Given the description of an element on the screen output the (x, y) to click on. 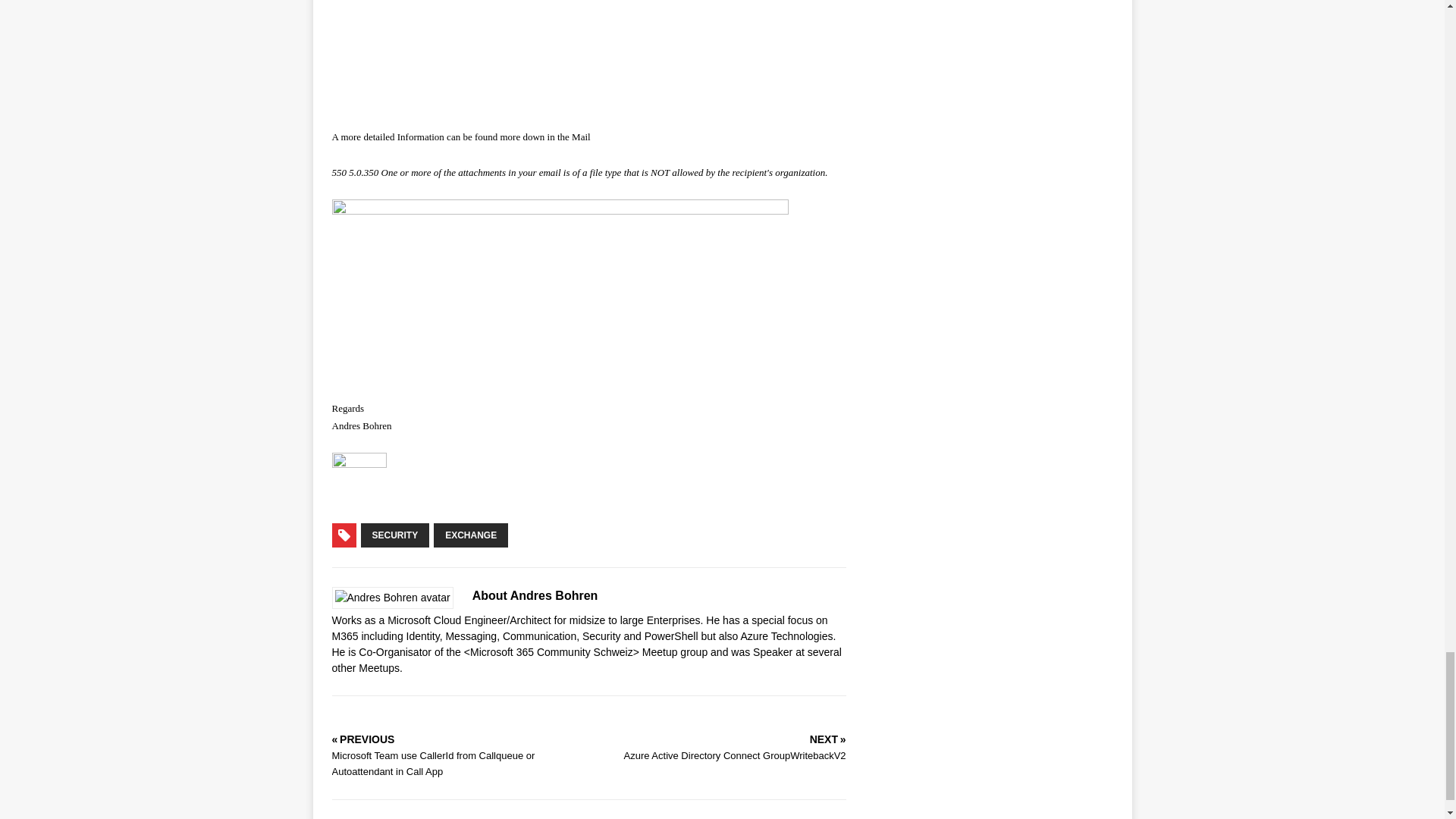
SECURITY (395, 535)
EXCHANGE (470, 535)
